Given the description of an element on the screen output the (x, y) to click on. 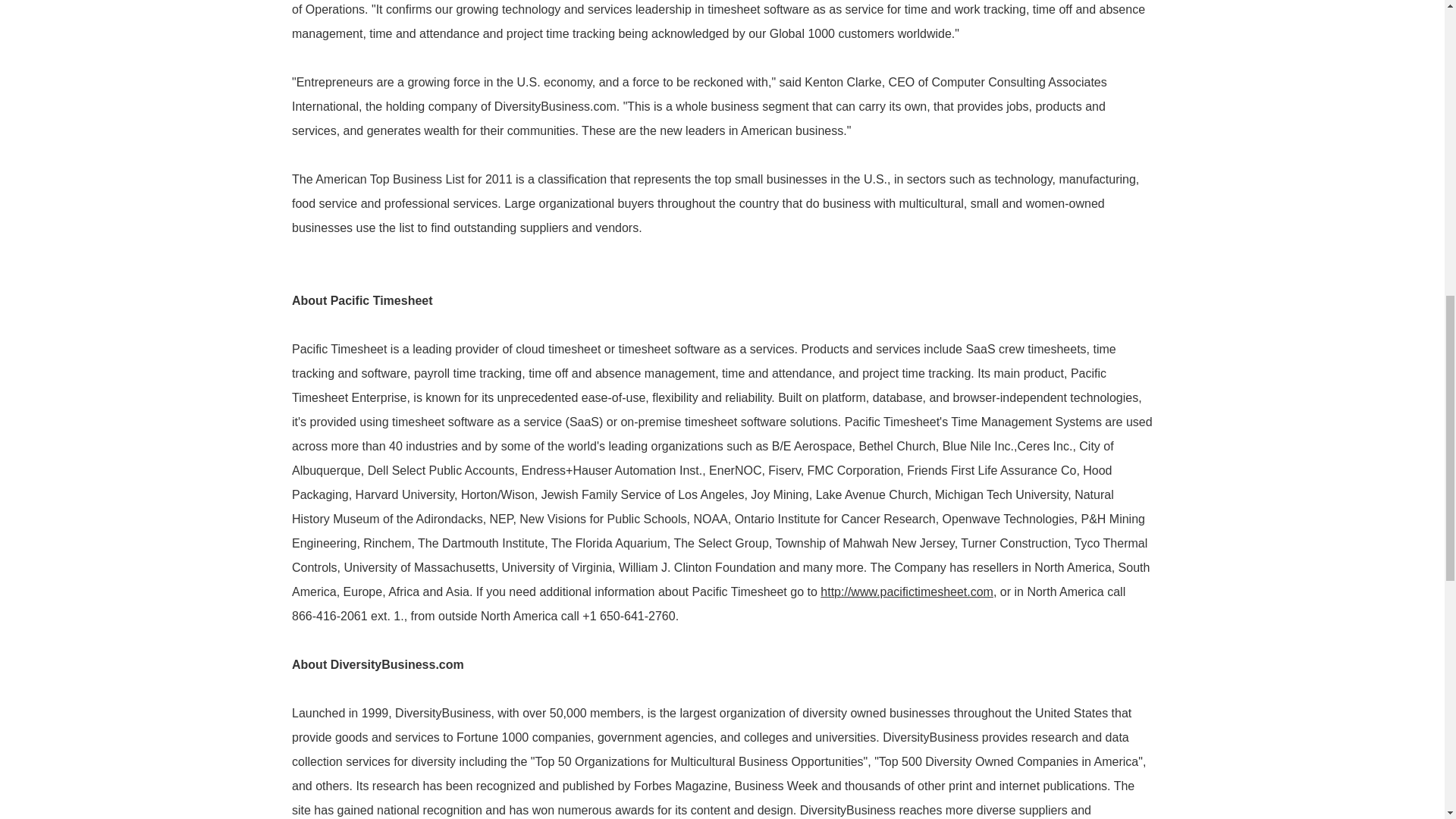
timesheet (906, 591)
